Given the description of an element on the screen output the (x, y) to click on. 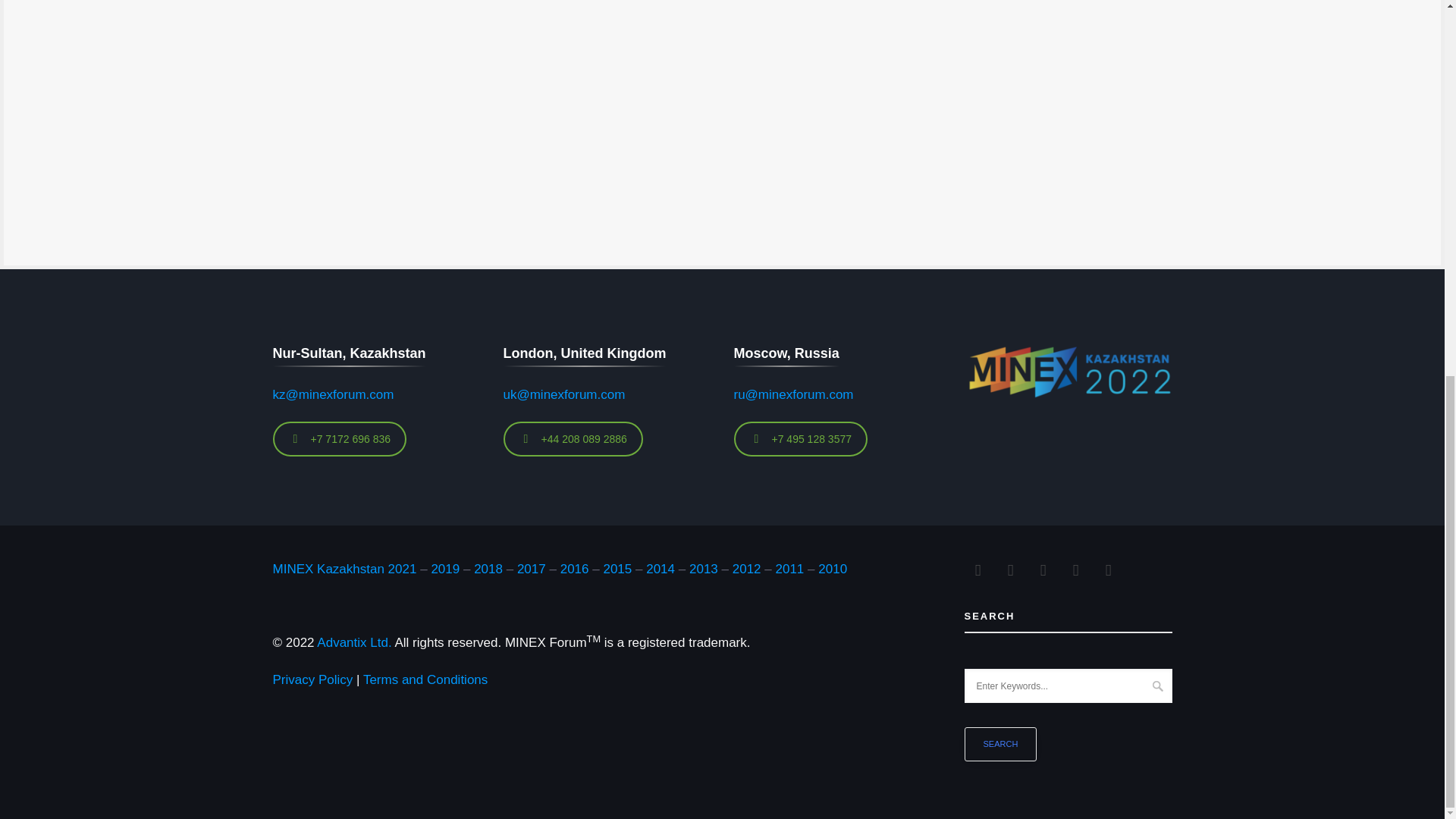
Search (999, 744)
